Given the description of an element on the screen output the (x, y) to click on. 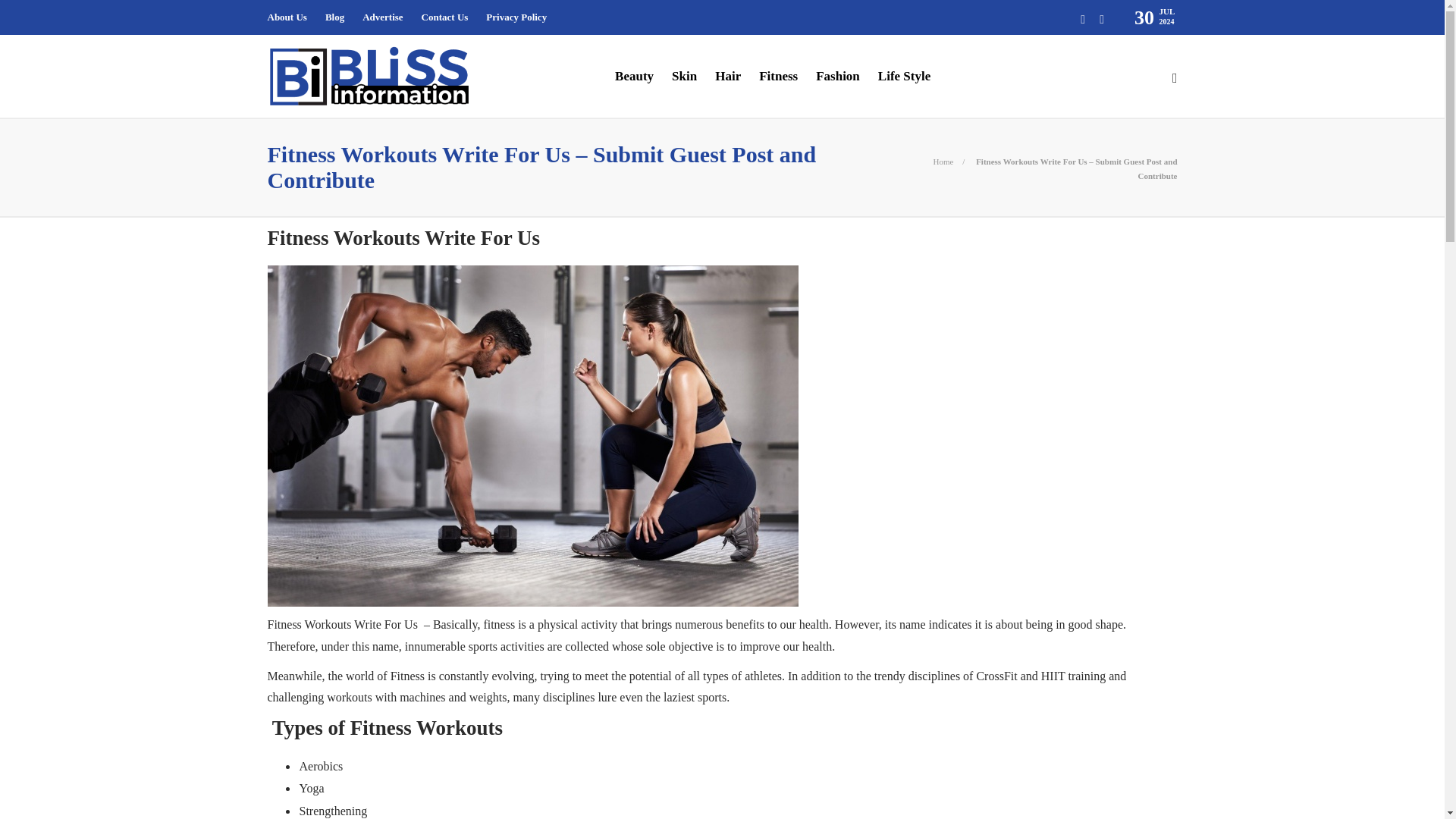
Privacy Policy (516, 17)
About Us (285, 17)
Advertise (382, 17)
Contact Us (445, 17)
Home (943, 161)
Life Style (903, 75)
Home (943, 161)
health (816, 645)
Fitness (283, 624)
